Given the description of an element on the screen output the (x, y) to click on. 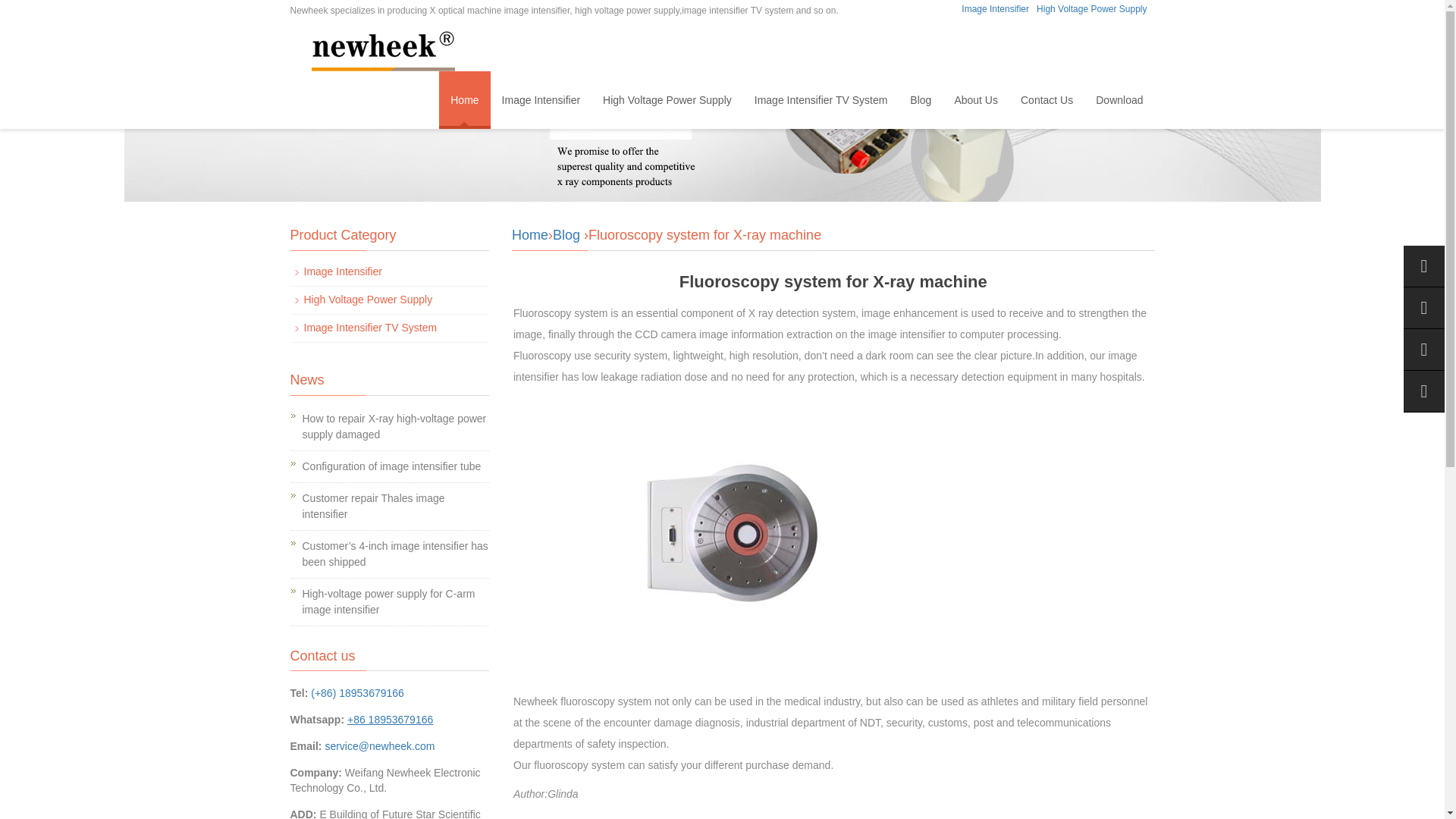
Back to Home page (530, 234)
High-voltage power supply for C-arm image intensifier (387, 601)
About Us (975, 99)
Blog (566, 234)
Image Intensifier (341, 271)
High Voltage Power Supply (666, 99)
High Voltage Power Supply (1091, 9)
Image Intensifier TV System (820, 99)
Download (1119, 99)
